Given the description of an element on the screen output the (x, y) to click on. 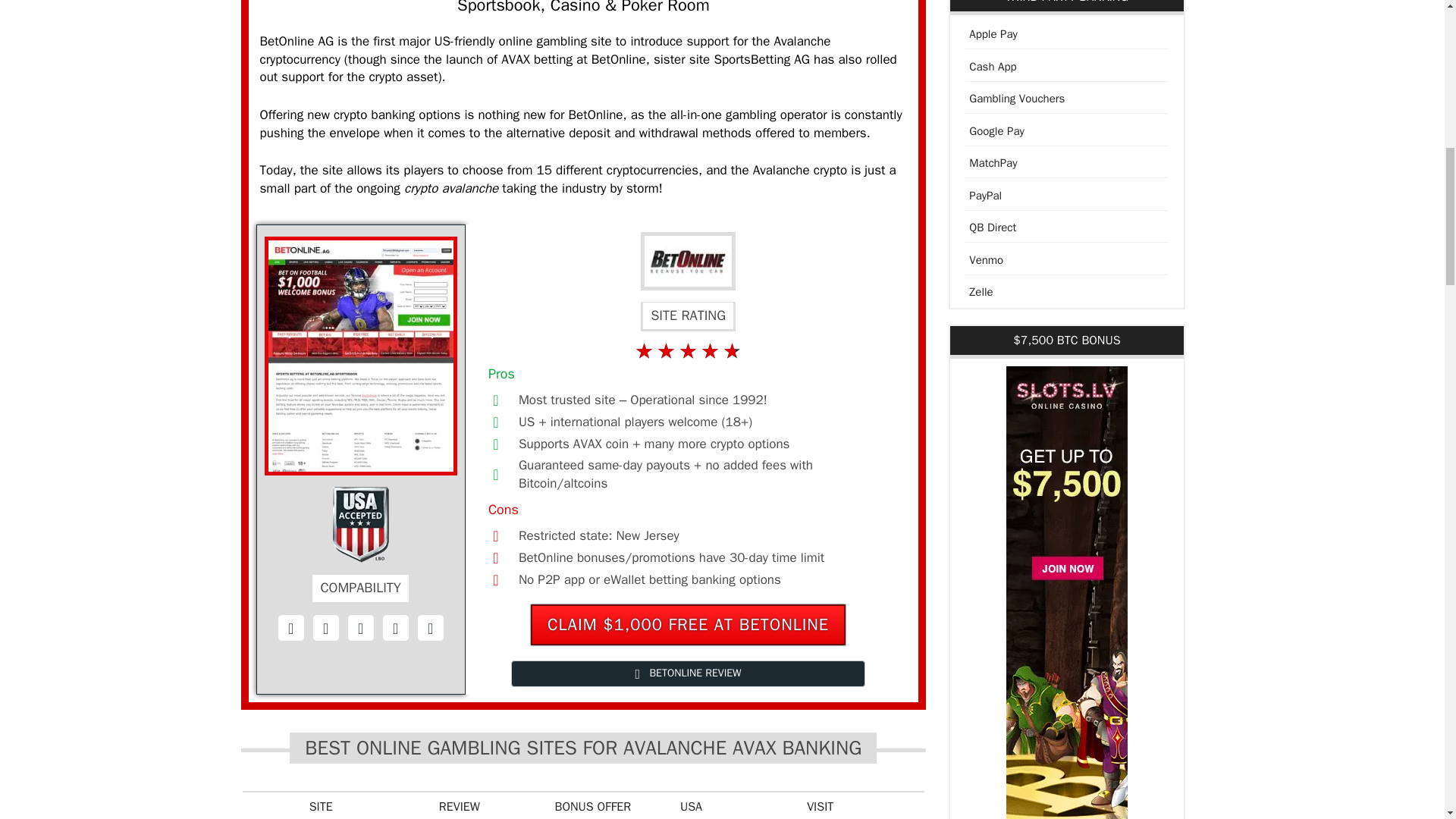
Scroll back to top (1406, 720)
betonline (687, 260)
